Given the description of an element on the screen output the (x, y) to click on. 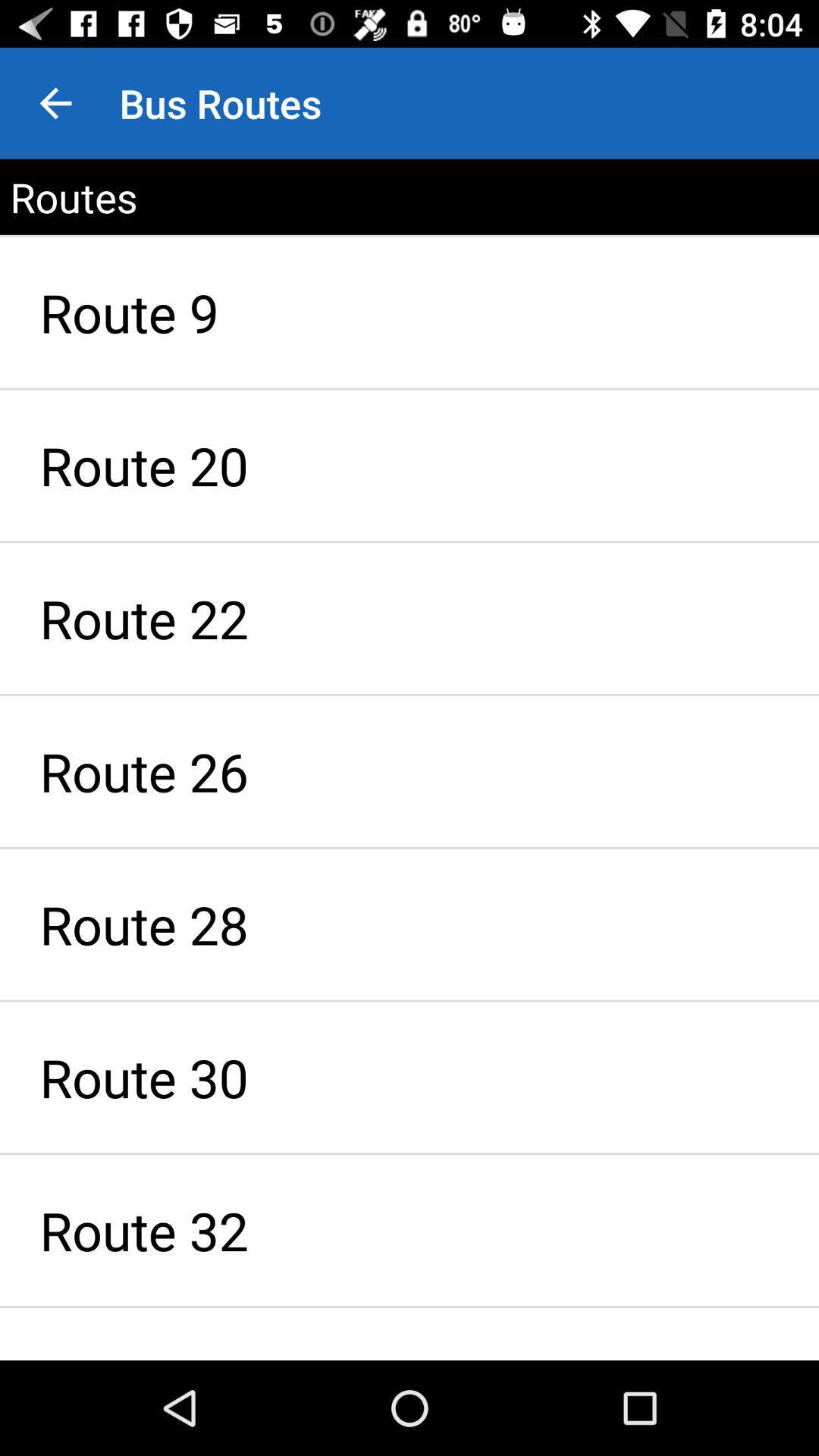
launch item above the routes item (55, 103)
